Given the description of an element on the screen output the (x, y) to click on. 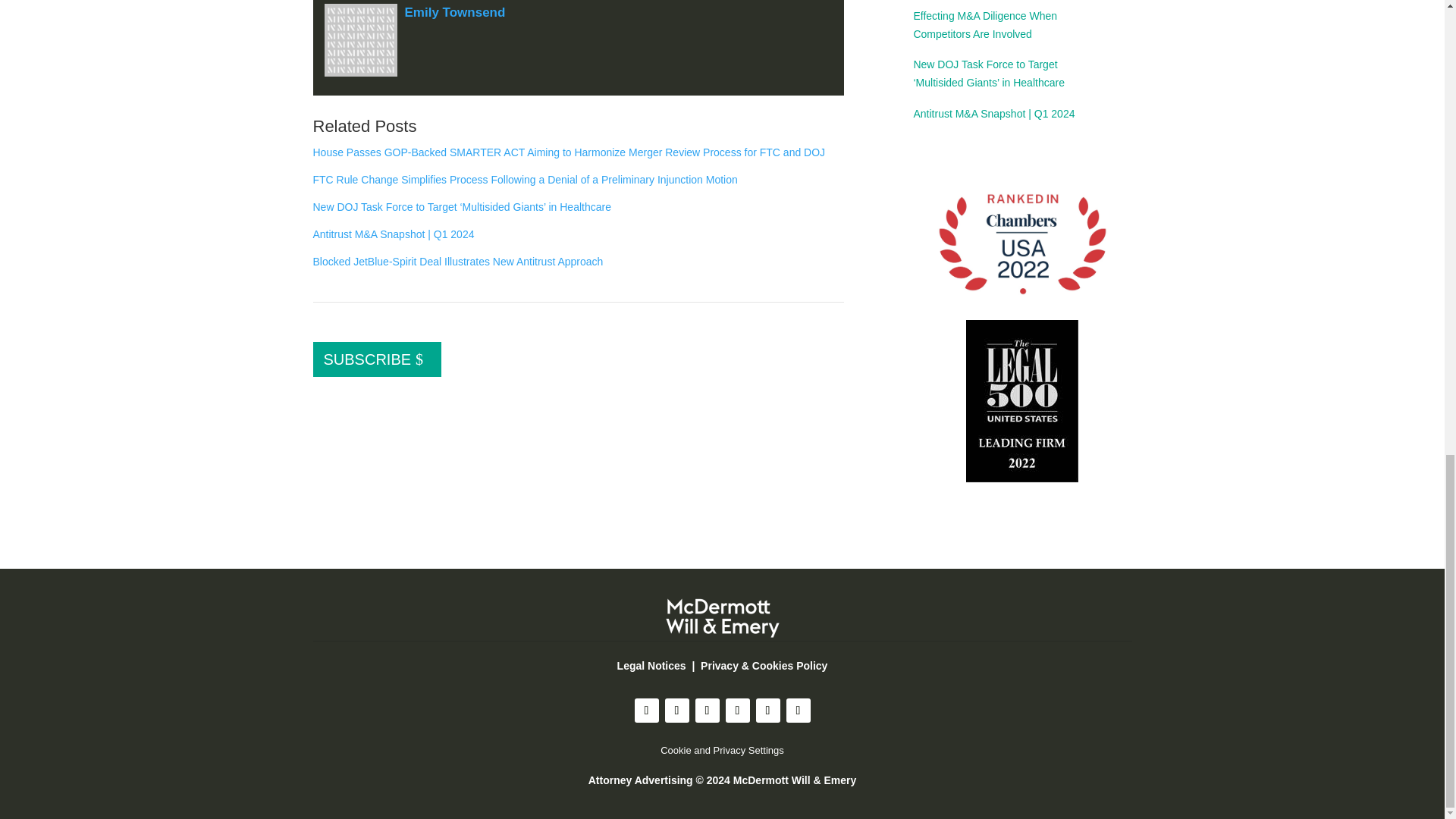
Ranked In - Chambers USA 2022 (1022, 245)
